Given the description of an element on the screen output the (x, y) to click on. 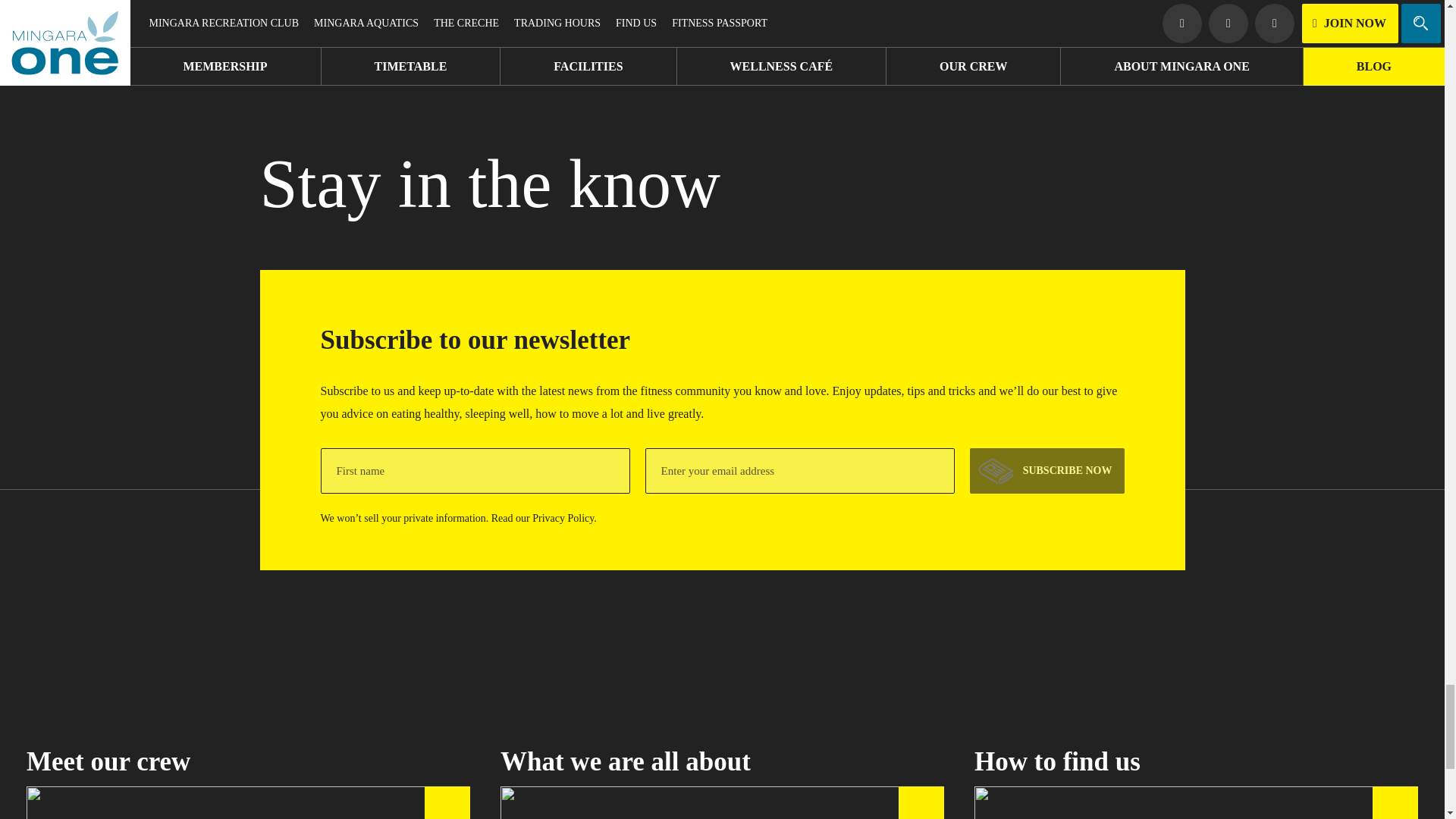
SUBSCRIBE NOW (1046, 470)
